Given the description of an element on the screen output the (x, y) to click on. 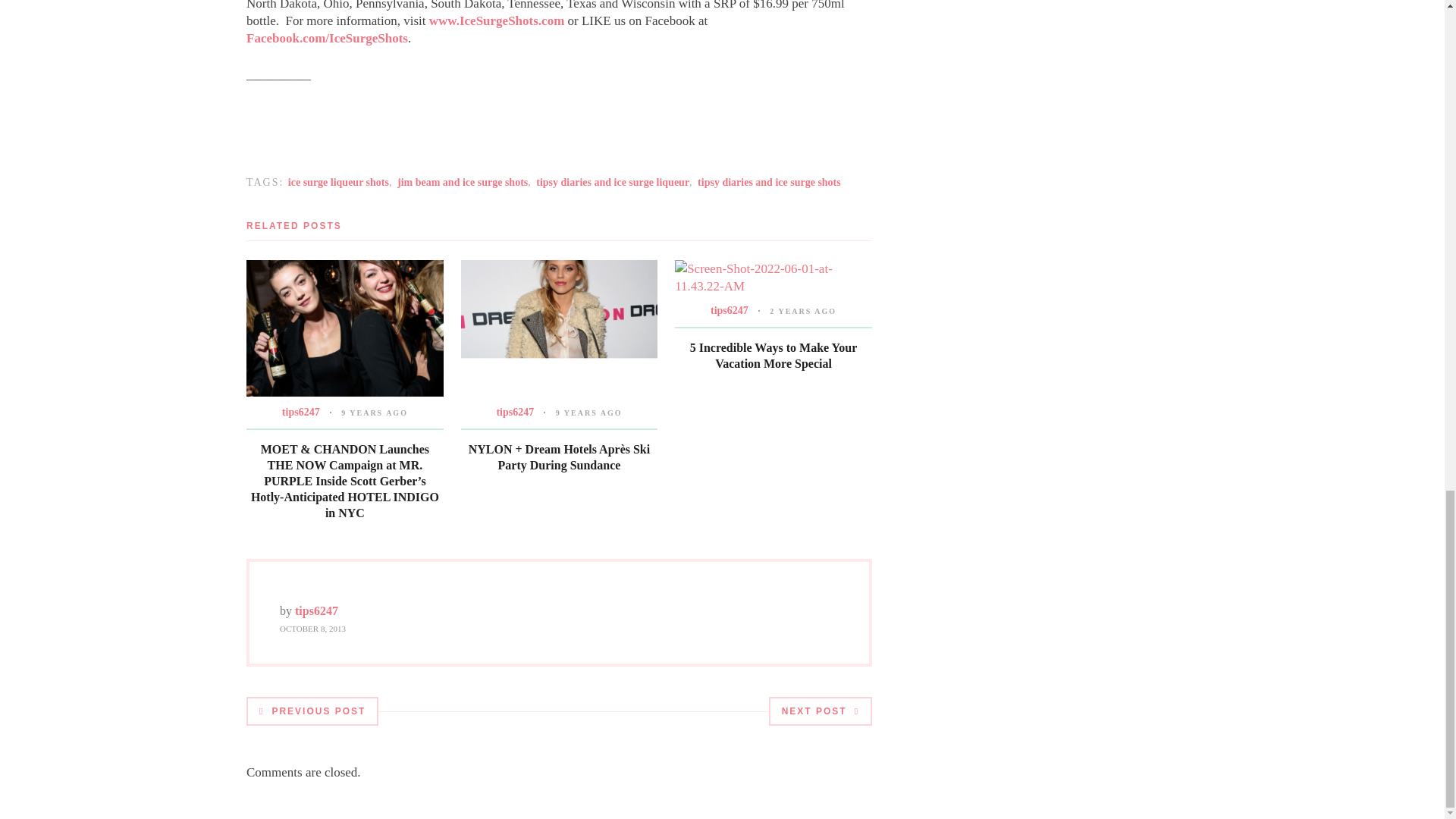
Posts by tips6247 (515, 411)
tipsy diaries and ice surge shots (769, 182)
Posts by tips6247 (729, 310)
tipsy diaries and ice surge liqueur (611, 182)
Posts by tips6247 (316, 610)
ice surge liqueur shots (338, 182)
tips6247 (515, 411)
jim beam and ice surge shots (462, 182)
tips6247 (301, 411)
fbiss (326, 38)
Posts by tips6247 (301, 411)
iss (496, 20)
www.IceSurgeShots.com (496, 20)
